Given the description of an element on the screen output the (x, y) to click on. 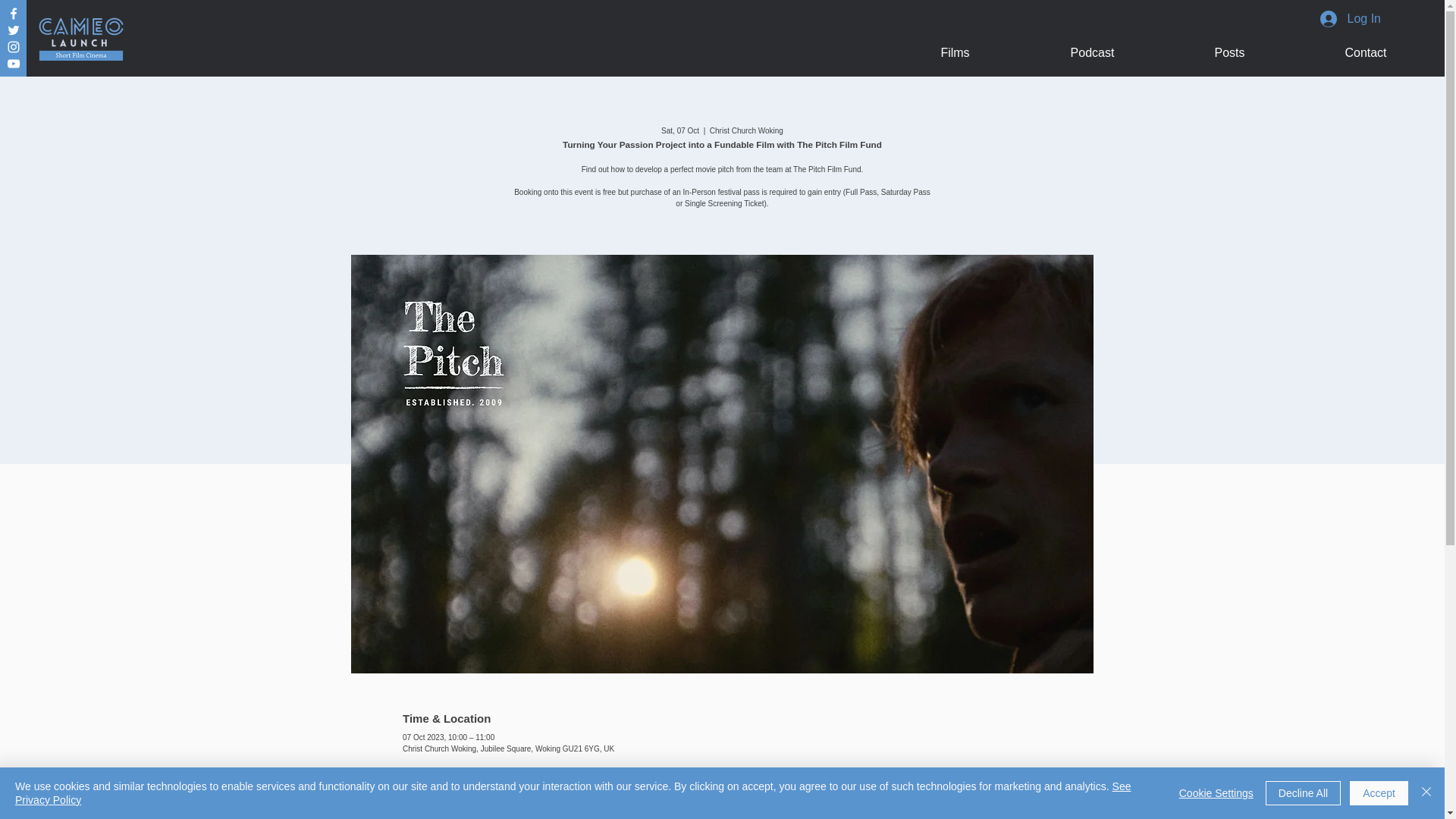
Contact (1365, 52)
Films (954, 52)
See Privacy Policy (572, 792)
Accept (1378, 793)
Posts (1229, 52)
Log In (1349, 18)
Decline All (1302, 793)
